Given the description of an element on the screen output the (x, y) to click on. 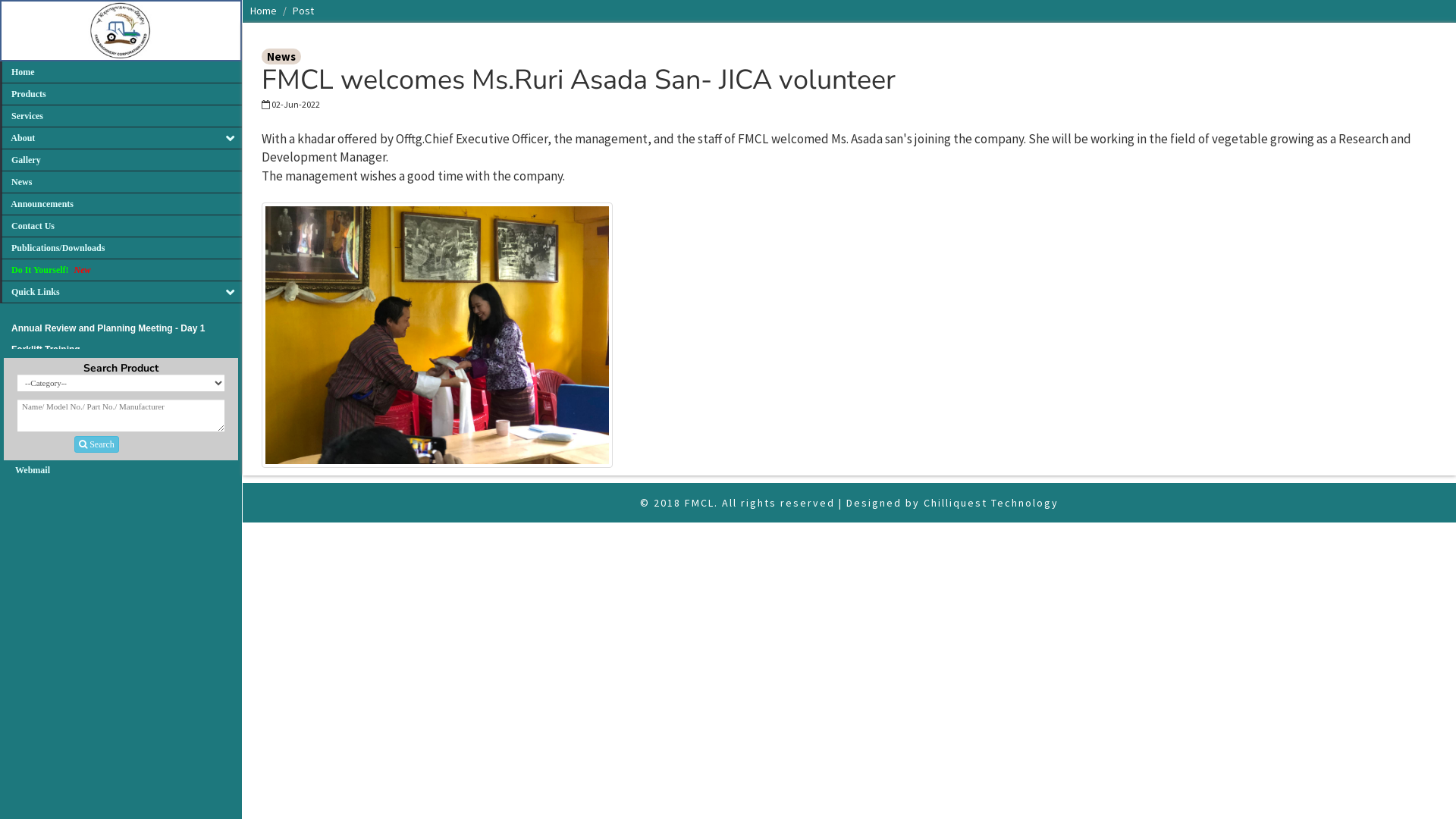
    Do It Yourself! New Element type: text (120, 270)
    Products Element type: text (120, 94)
Home Element type: text (263, 10)
Annual Review and Planning Meeting - Day 3 Element type: text (107, 326)
    News Element type: text (120, 182)
    Contact Us Element type: text (120, 226)
    Gallery Element type: text (120, 160)
    Quick Links Element type: text (120, 292)
    Publications/Downloads Element type: text (120, 248)
    About Element type: text (120, 138)
    Announcements Element type: text (120, 204)
Webmail Element type: text (32, 469)
    Services Element type: text (120, 116)
    Home Element type: text (120, 72)
Search Element type: text (96, 444)
Annual Review and Planning Meeting - Day 2 Element type: text (107, 347)
Chilliquest Technology Element type: text (990, 502)
